Given the description of an element on the screen output the (x, y) to click on. 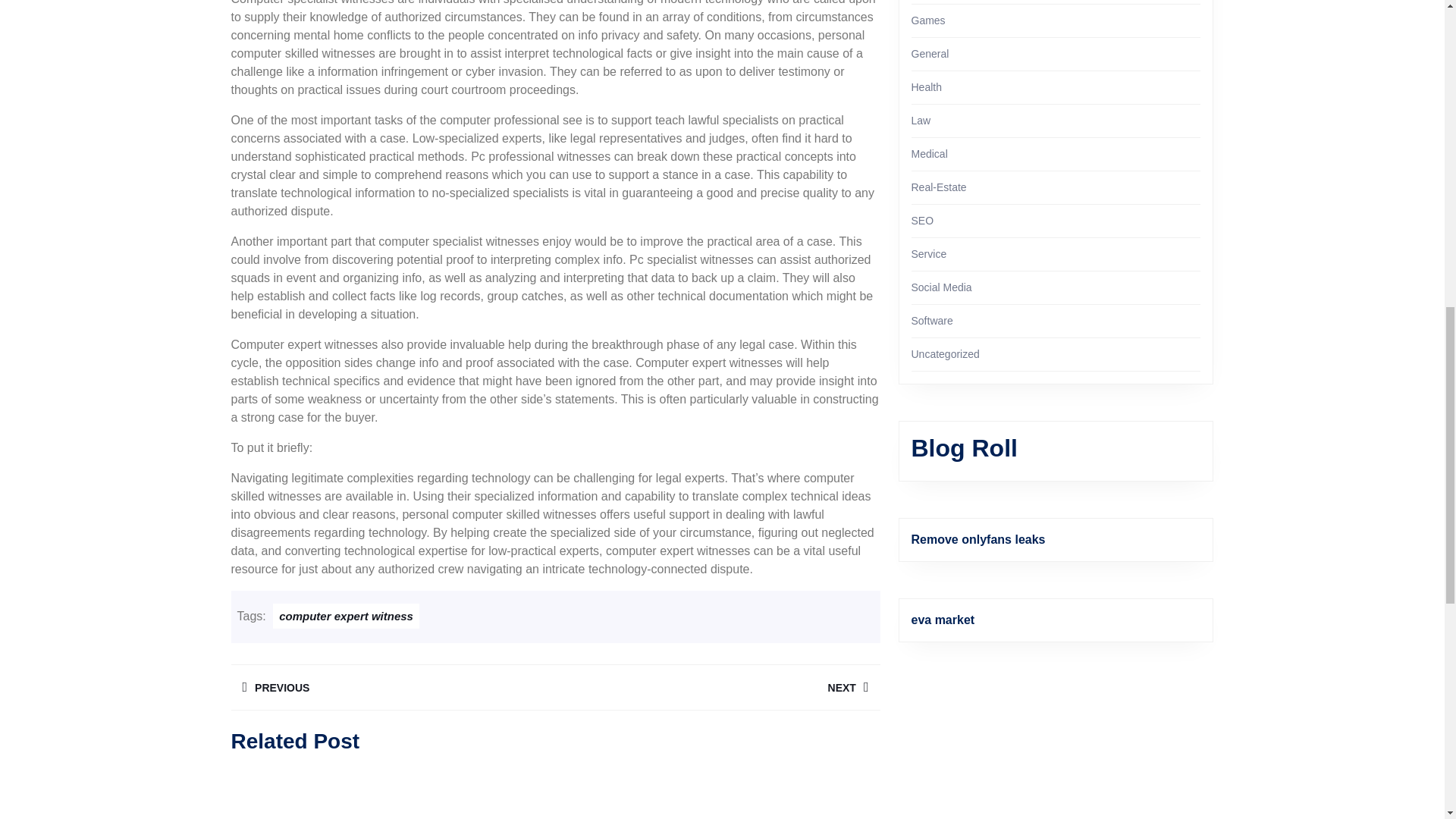
computer expert witness (392, 687)
